Given the description of an element on the screen output the (x, y) to click on. 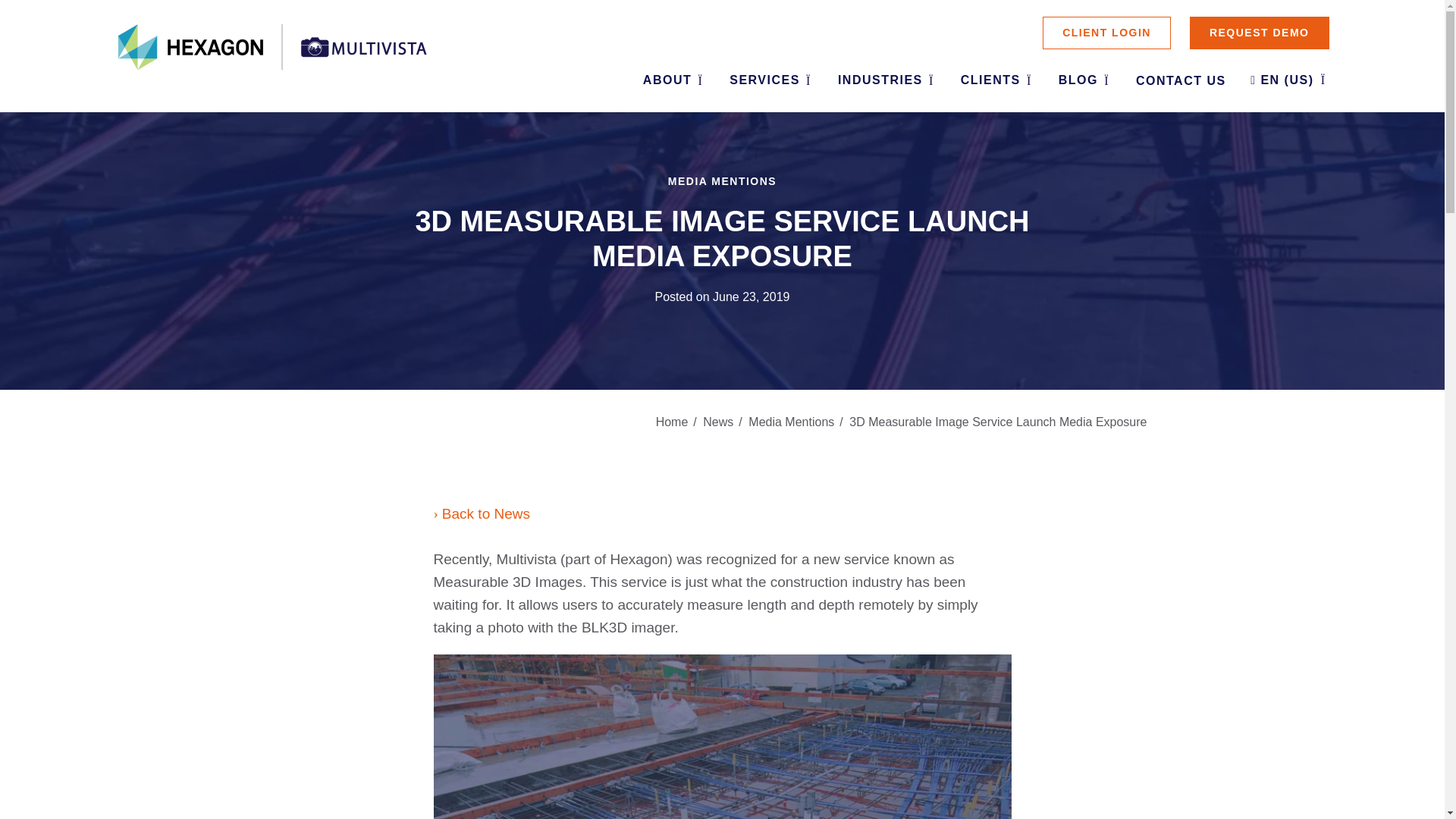
INDUSTRIES (886, 81)
ABOUT (673, 81)
CLIENTS (996, 81)
SERVICES (769, 81)
BLOG (1083, 81)
